Given the description of an element on the screen output the (x, y) to click on. 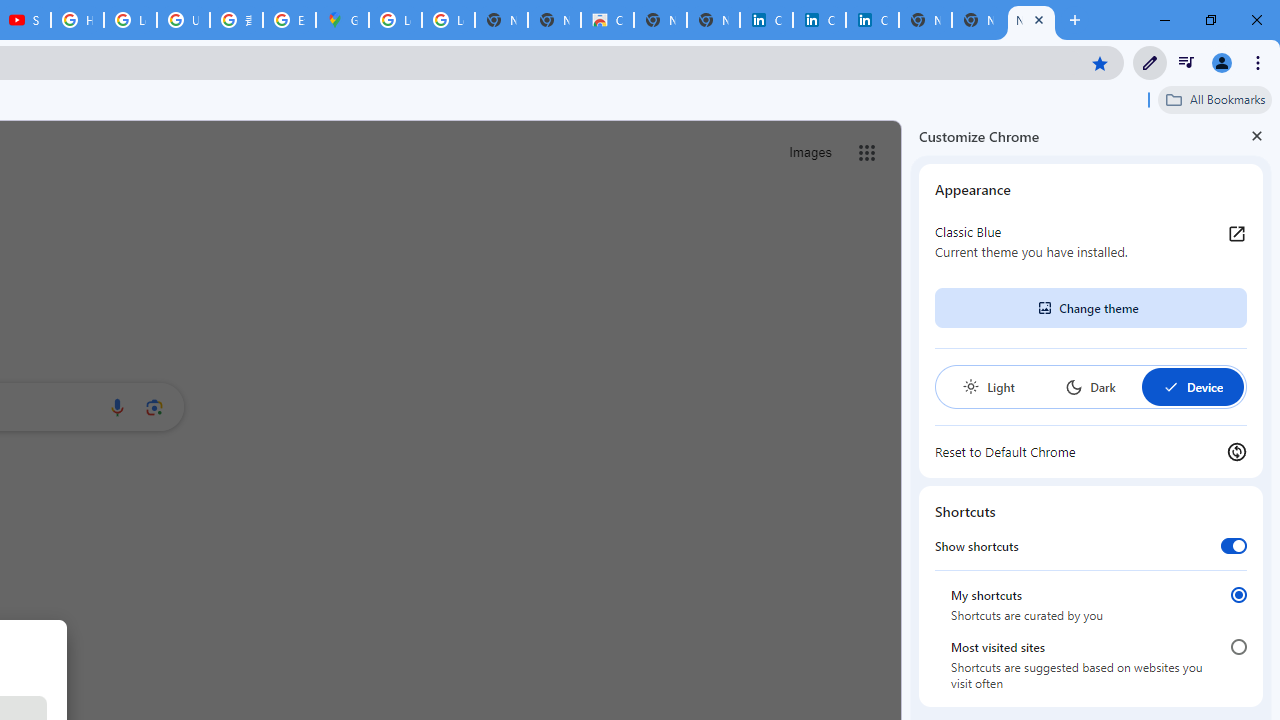
Dark (1090, 386)
Classic Blue Current theme you have installed. (1091, 241)
Show shortcuts (1233, 545)
Google Maps (342, 20)
Change theme (1090, 308)
Light (988, 386)
My shortcuts (1238, 594)
Cookie Policy | LinkedIn (819, 20)
